Given the description of an element on the screen output the (x, y) to click on. 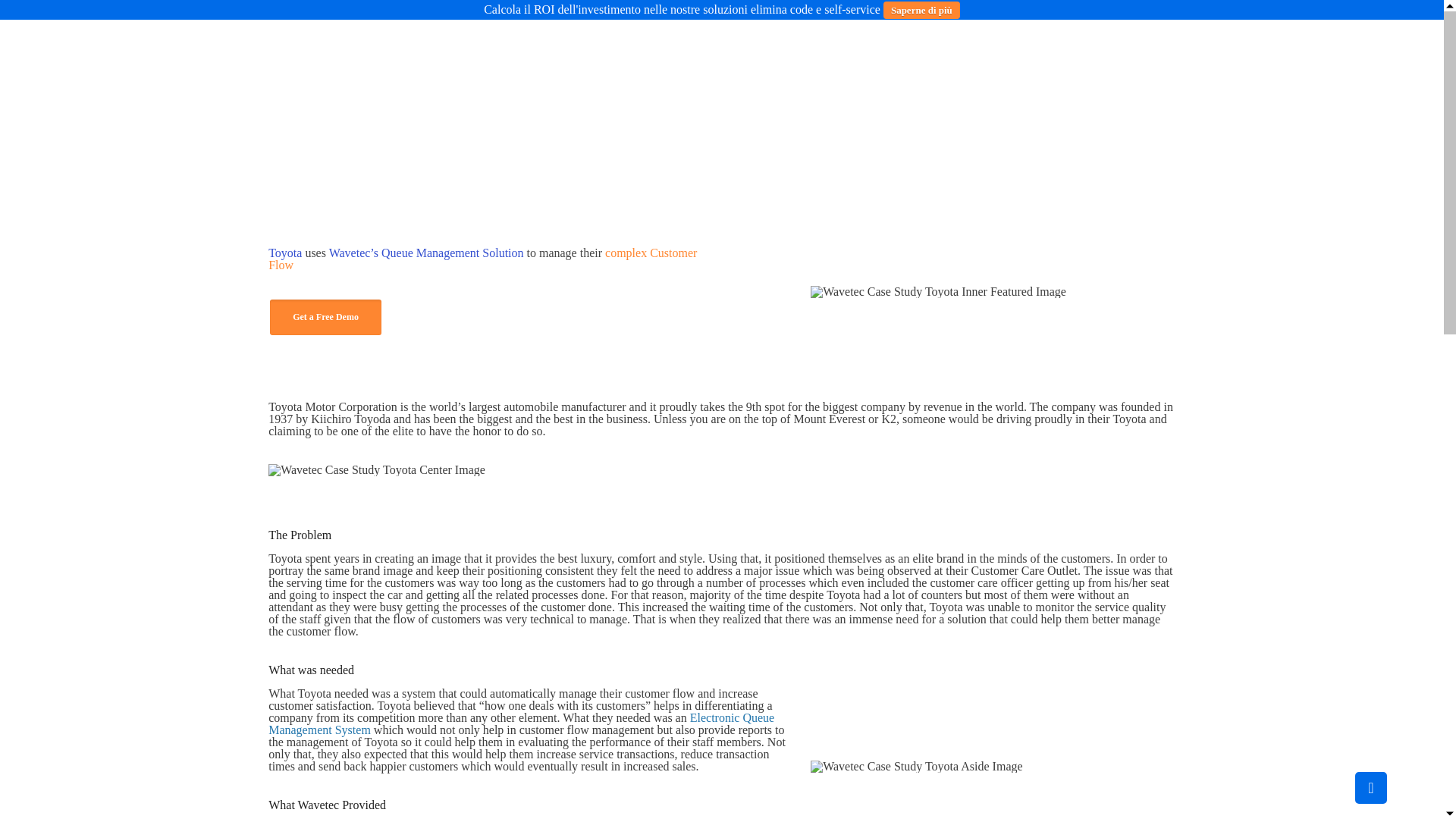
Toyota 4 (916, 766)
Electronic Queue Management System (520, 723)
Toyota 3 (375, 469)
Toyota 2 (937, 291)
Get a Free Demo (324, 317)
